Given the description of an element on the screen output the (x, y) to click on. 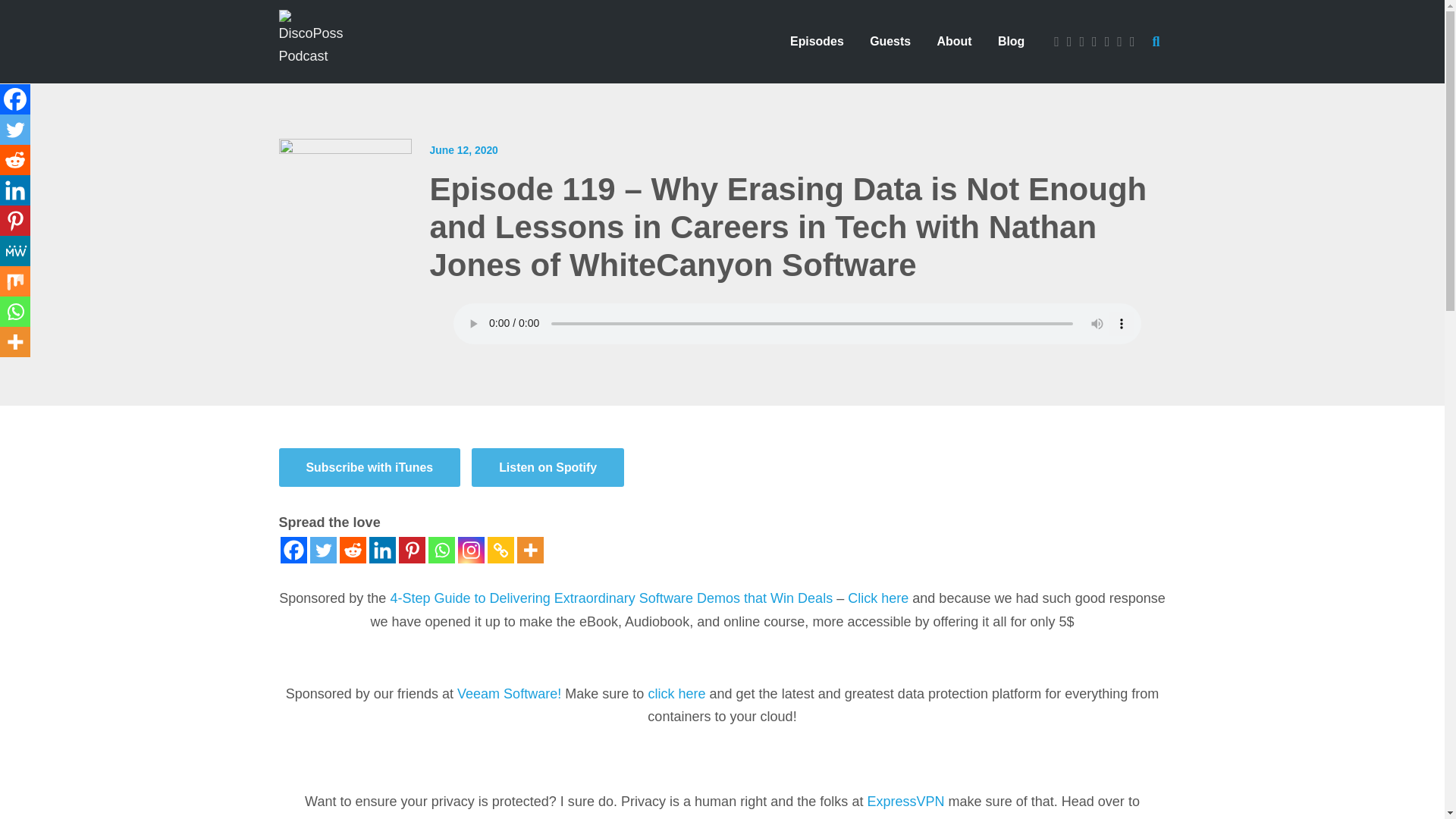
Copy Link (499, 550)
Veeam Software! (508, 693)
Facebook (15, 99)
Mix (15, 281)
Reddit (15, 159)
Reddit (352, 550)
Twitter (322, 550)
Linkedin (381, 550)
ExpressVPN (904, 801)
MeWe (15, 250)
